Given the description of an element on the screen output the (x, y) to click on. 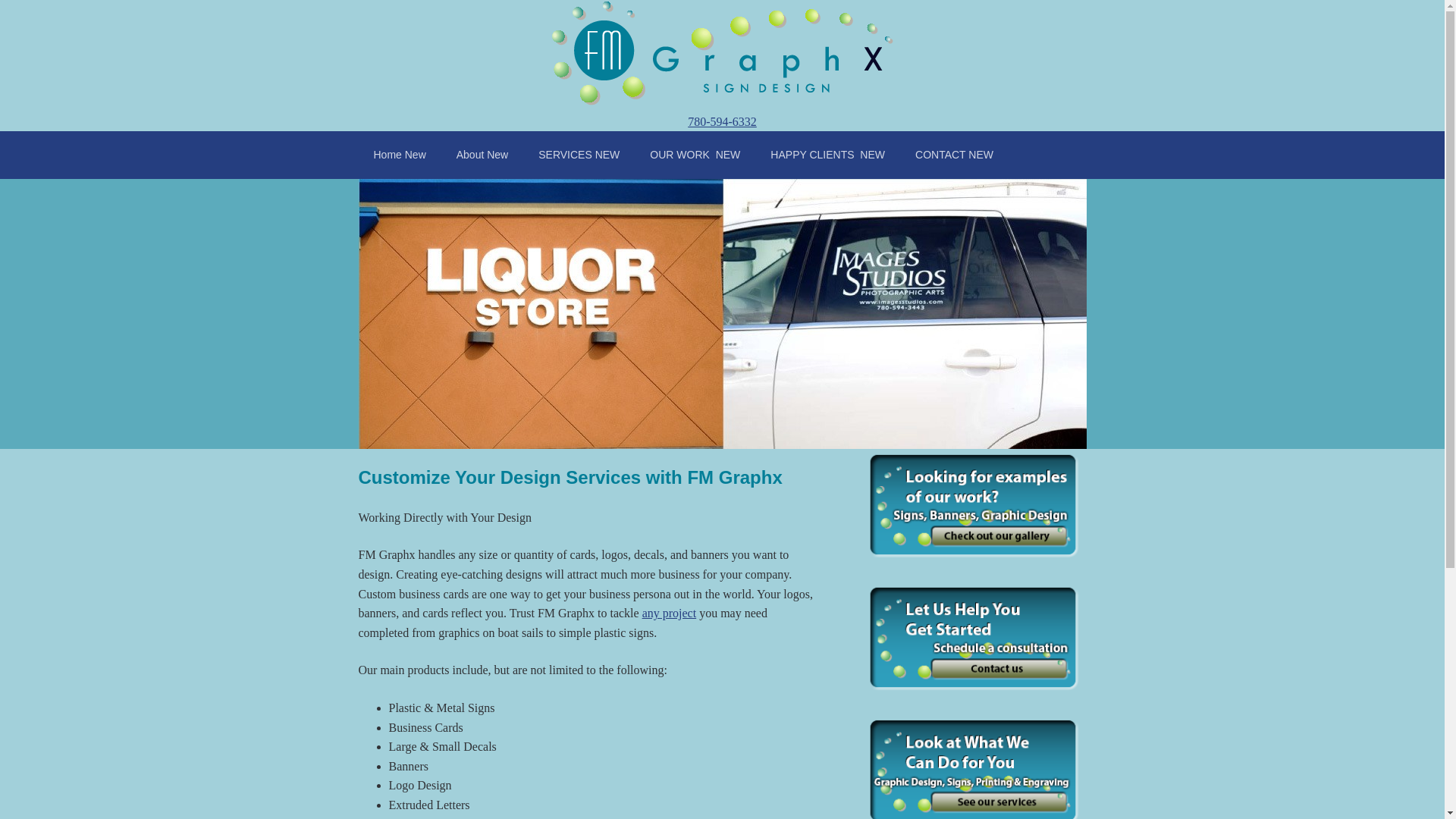
Home New (399, 154)
HAPPY CLIENTS  NEW (827, 154)
CONTACT NEW (954, 154)
About New (481, 154)
SERVICES NEW (578, 154)
OUR WORK  NEW (694, 154)
any project (669, 612)
